Given the description of an element on the screen output the (x, y) to click on. 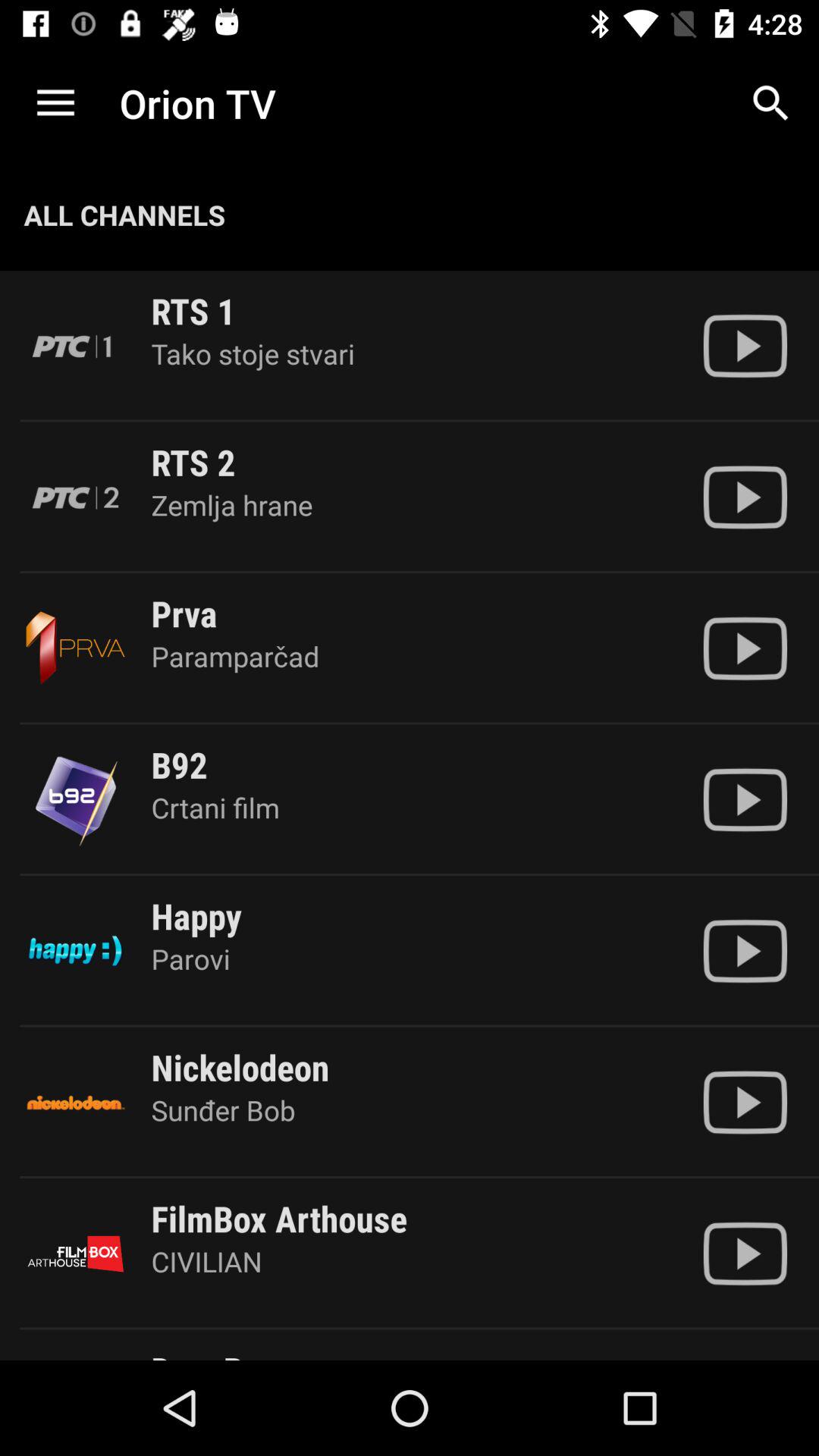
play (745, 345)
